Given the description of an element on the screen output the (x, y) to click on. 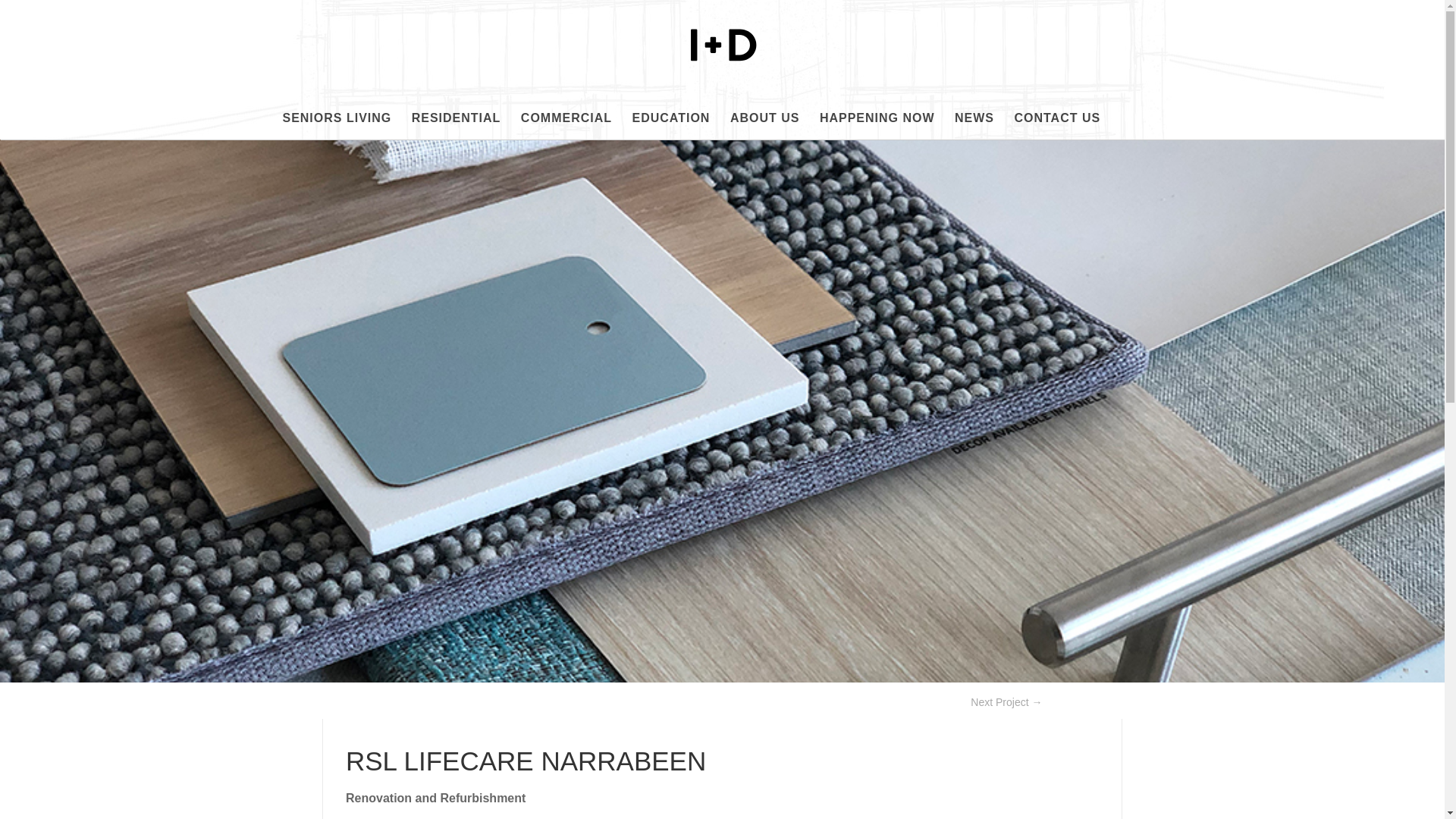
SENIORS LIVING (336, 126)
HAPPENING NOW (876, 126)
RESIDENTIAL (456, 126)
ABOUT US (764, 126)
COMMERCIAL (566, 126)
EDUCATION (670, 126)
CONTACT US (1056, 126)
NEWS (974, 126)
